Given the description of an element on the screen output the (x, y) to click on. 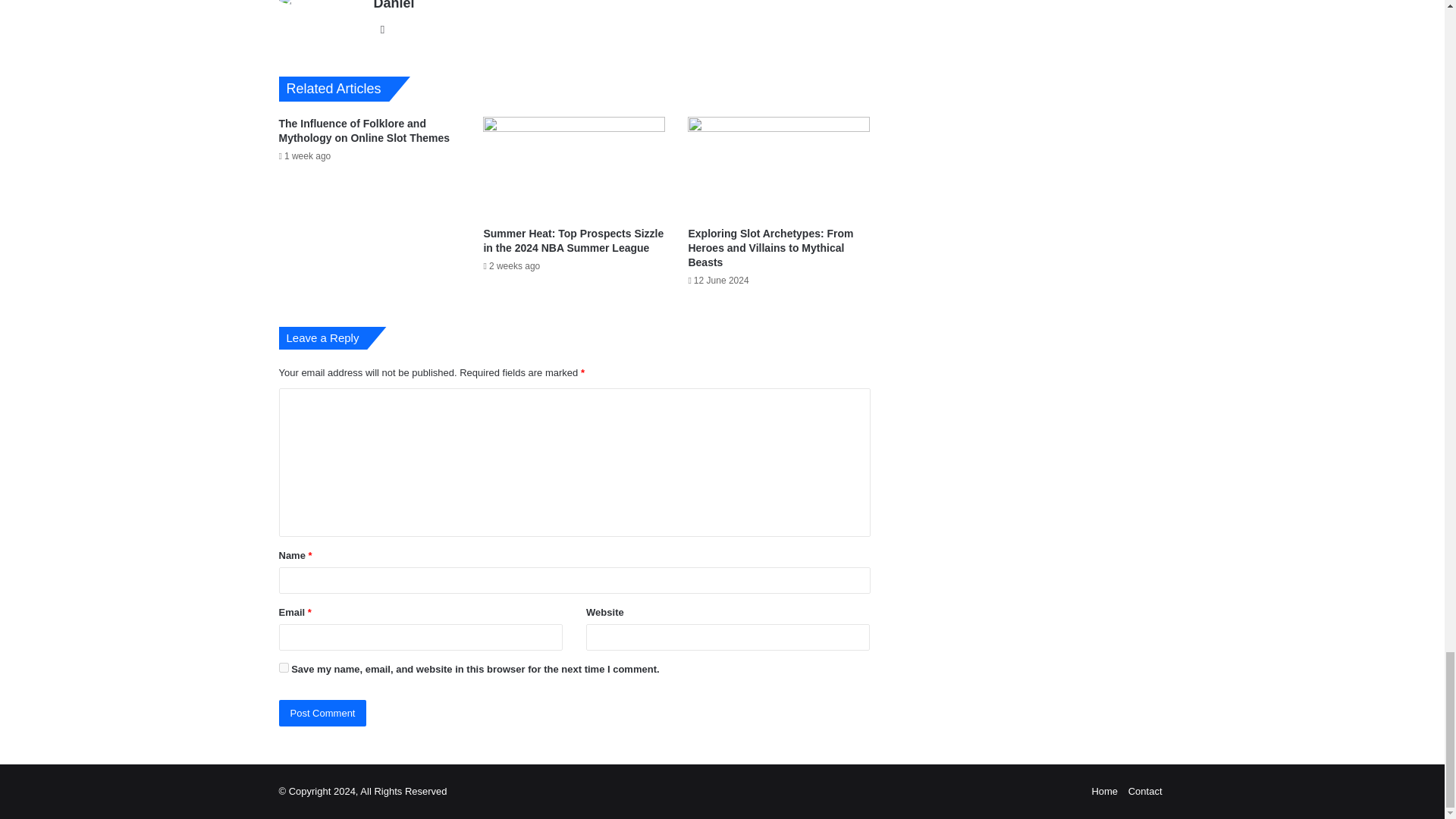
Website (381, 29)
yes (283, 667)
Daniel (392, 5)
Post Comment (322, 713)
